Given the description of an element on the screen output the (x, y) to click on. 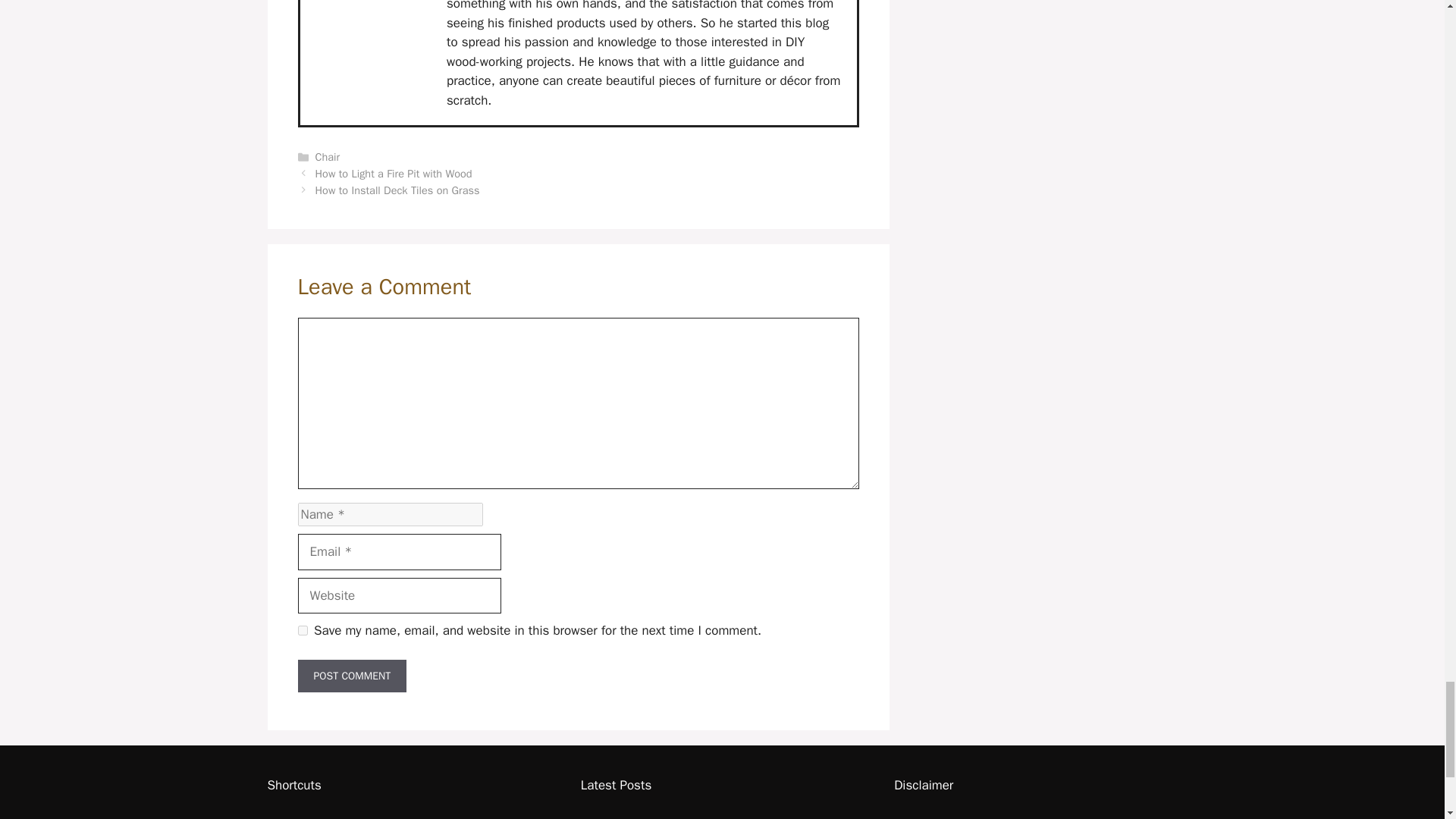
Post Comment (351, 676)
yes (302, 630)
How to Install Deck Tiles on Grass (397, 190)
Chair (327, 156)
How to Light a Fire Pit with Wood (393, 173)
